Given the description of an element on the screen output the (x, y) to click on. 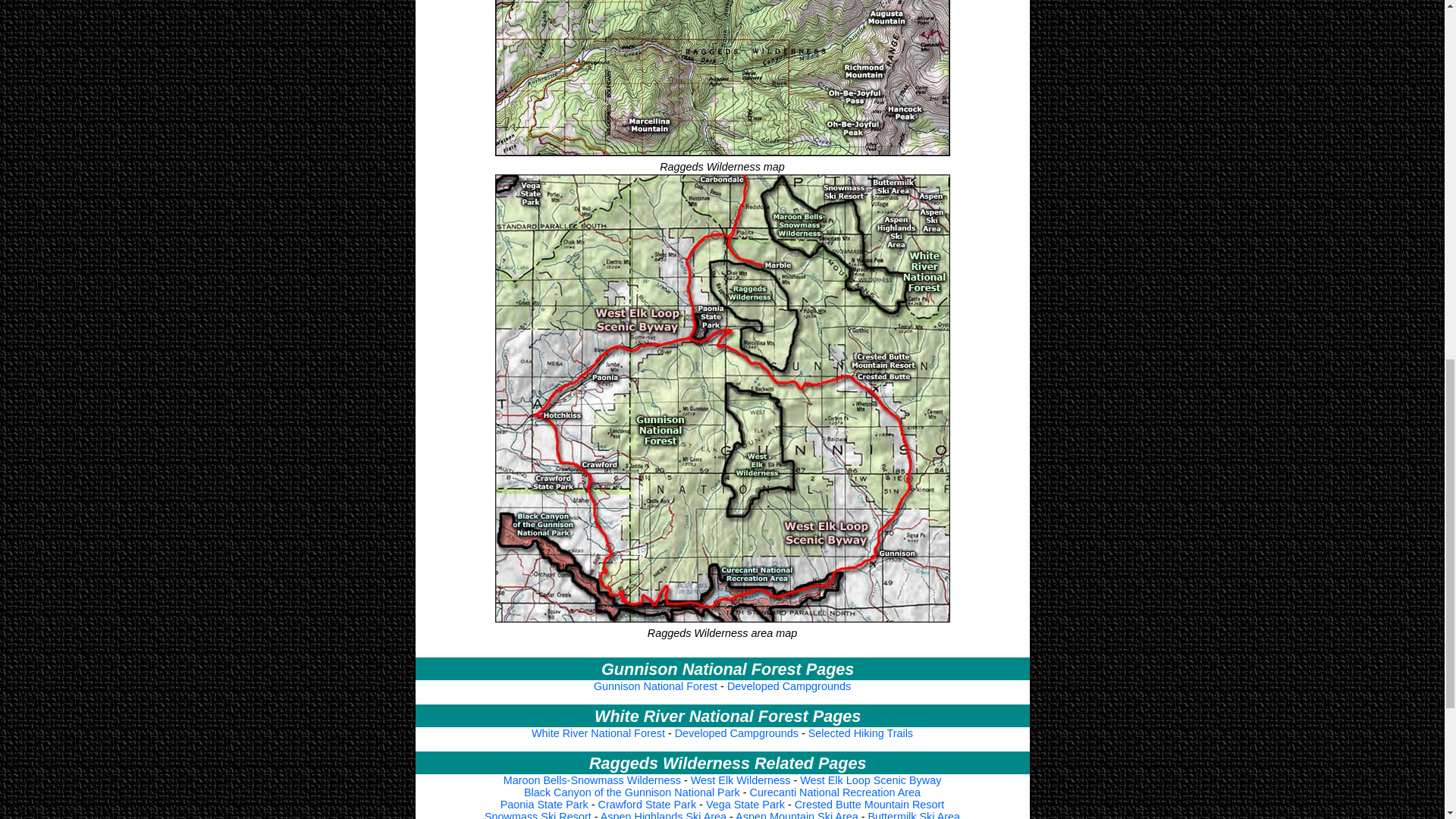
Aspen Mountain Ski Area (797, 814)
Maroon Bells-Snowmass Wilderness (592, 779)
Developed Campgrounds (736, 733)
Vega State Park (745, 804)
White River National Forest (598, 733)
Raggeds Wilderness map (722, 79)
Black Canyon of the Gunnison National Park (631, 792)
West Elk Wilderness (740, 779)
Paonia State Park (544, 804)
